Given the description of an element on the screen output the (x, y) to click on. 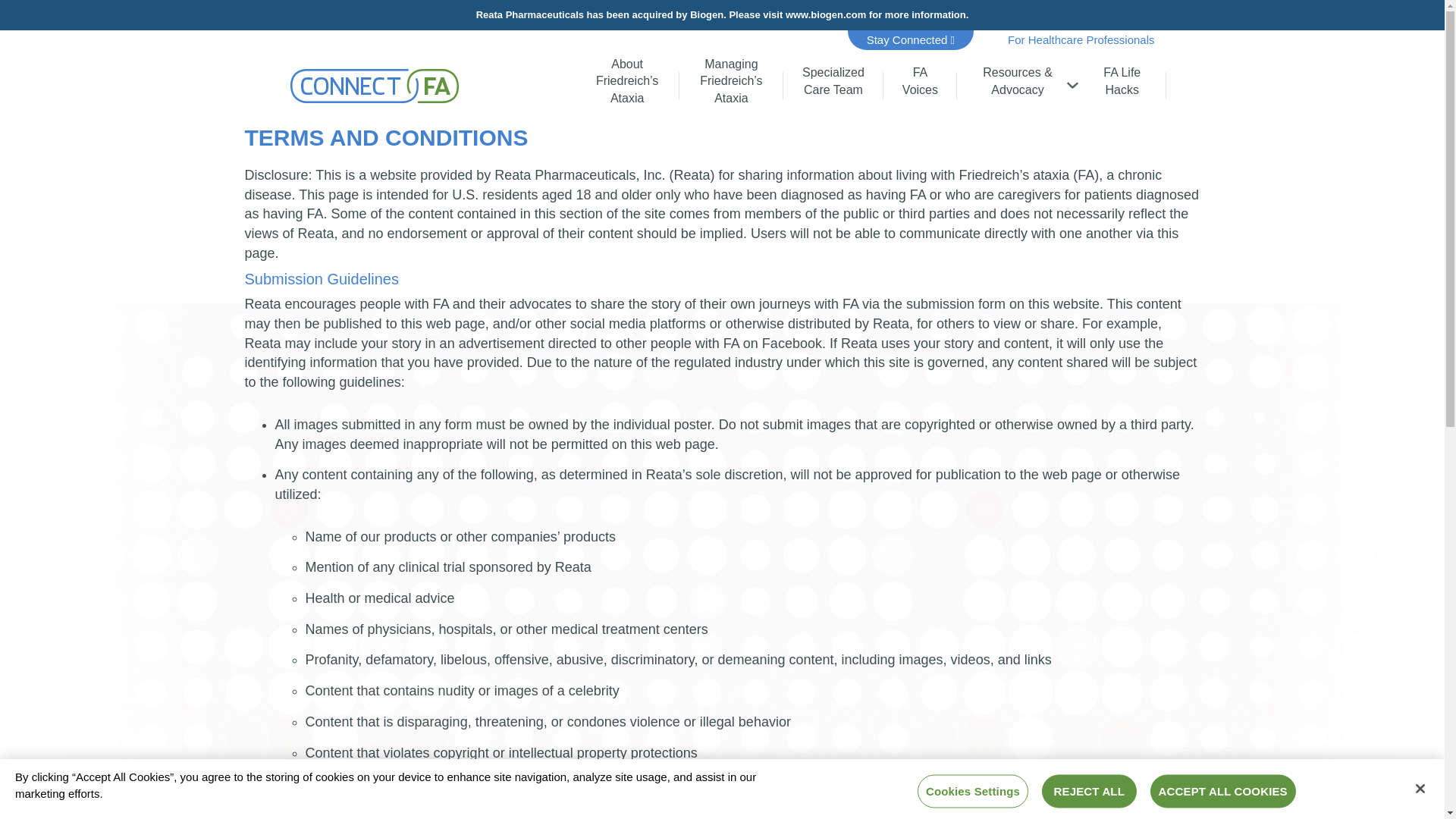
REJECT ALL (1089, 790)
Cookies Settings (972, 790)
Stay Connected (910, 39)
FA Life Hacks (833, 85)
www.biogen.com (1122, 85)
For Healthcare Professionals (826, 14)
ACCEPT ALL COOKIES (1080, 39)
